Given the description of an element on the screen output the (x, y) to click on. 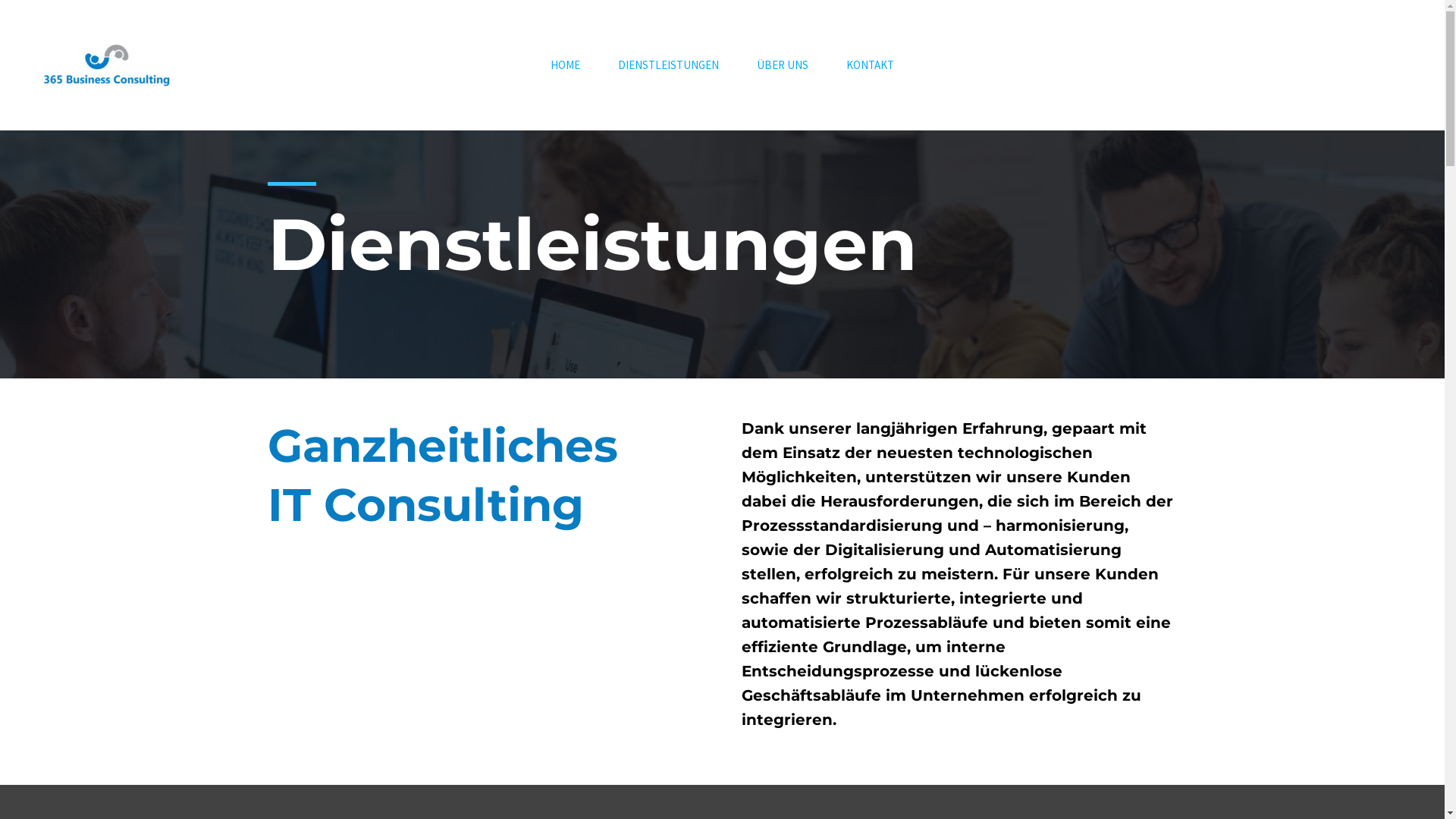
HOME Element type: text (565, 64)
KONTAKT Element type: text (870, 64)
DIENSTLEISTUNGEN Element type: text (668, 64)
